Given the description of an element on the screen output the (x, y) to click on. 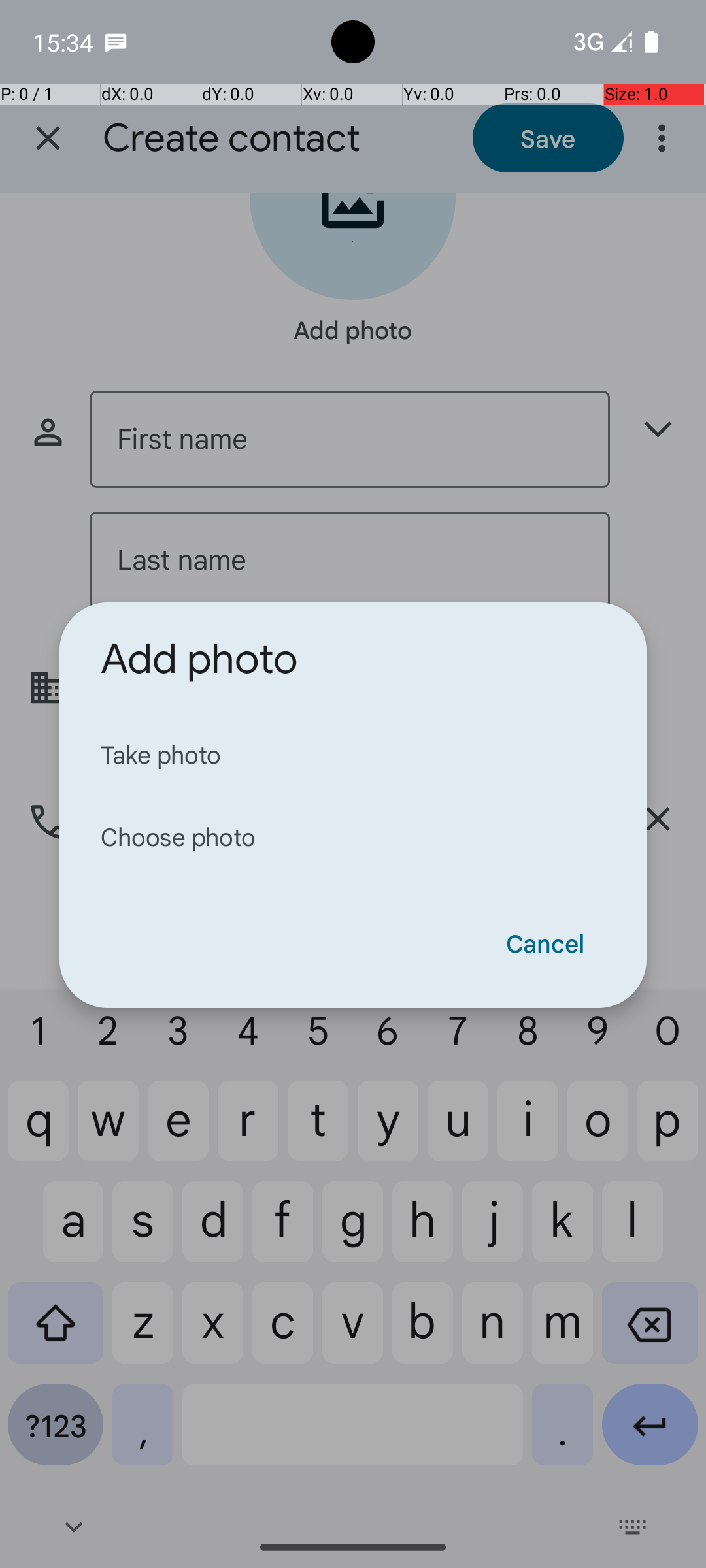
Add photo Element type: android.widget.TextView (199, 659)
Take photo Element type: android.widget.TextView (352, 753)
Choose photo Element type: android.widget.TextView (352, 836)
